Given the description of an element on the screen output the (x, y) to click on. 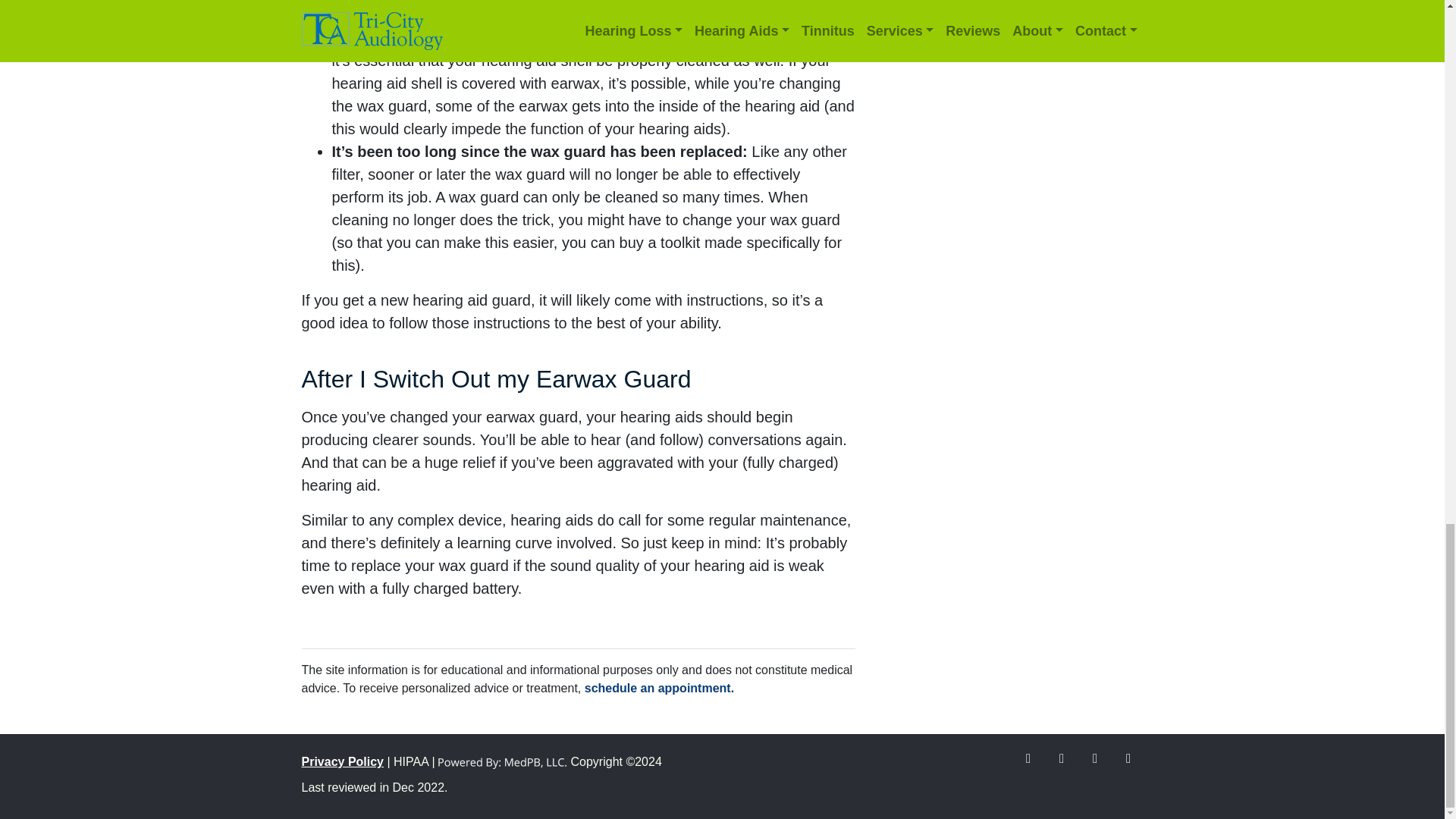
schedule an appointment. (659, 687)
MedPB: Medical Practice Building, Marketing, Websites (502, 761)
